Given the description of an element on the screen output the (x, y) to click on. 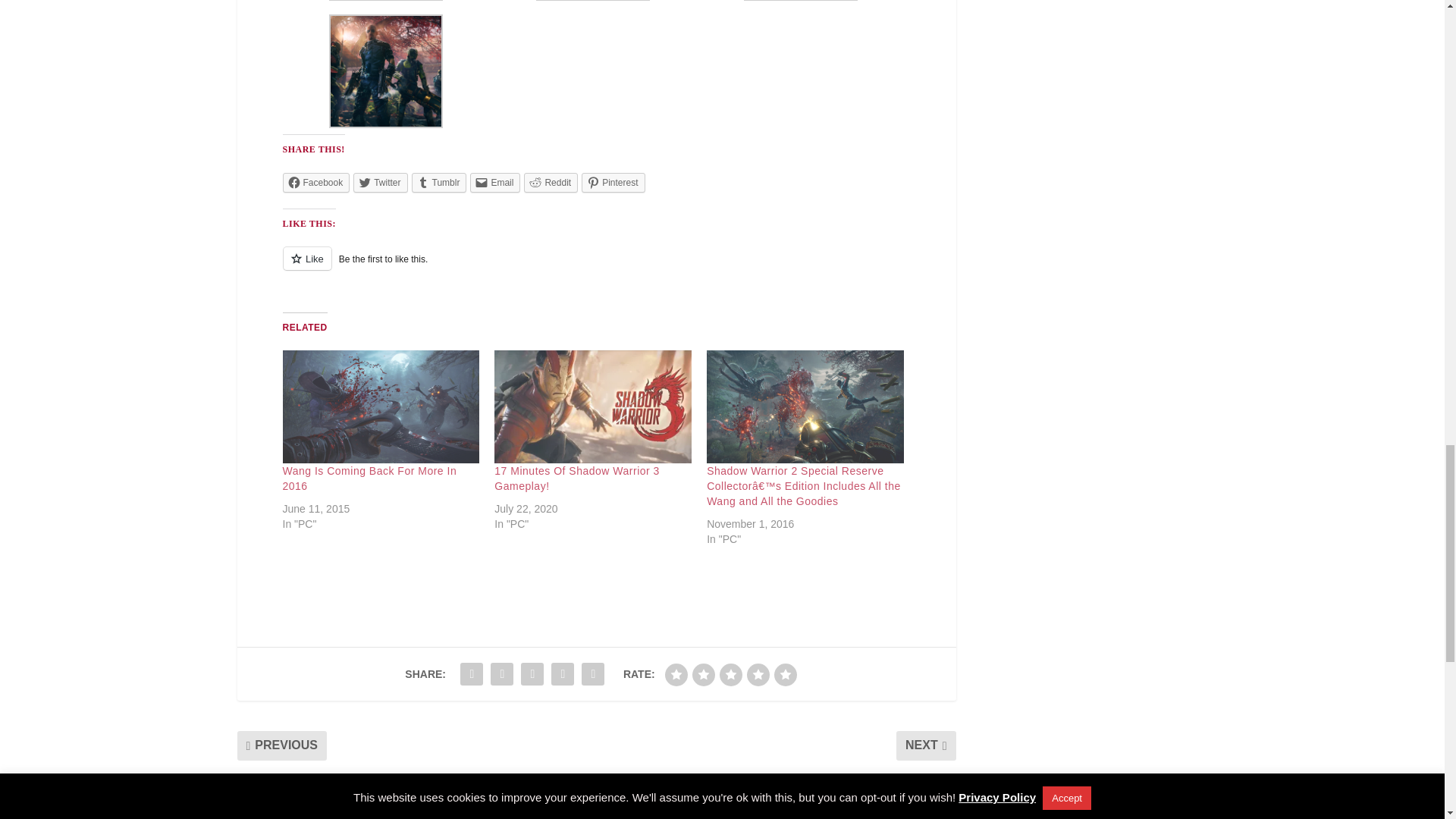
Click to email this to a friend (494, 182)
Click to share on Reddit (551, 182)
Click to share on Twitter (380, 182)
Click to share on Tumblr (439, 182)
17 Minutes Of Shadow Warrior 3 Gameplay! (593, 406)
Wang Is Coming Back For More In 2016 (380, 406)
Like or Reblog (596, 267)
Click to share on Pinterest (612, 182)
Click to share on Facebook (315, 182)
Wang Is Coming Back For More In 2016 (369, 478)
17 Minutes Of Shadow Warrior 3 Gameplay! (577, 478)
